Given the description of an element on the screen output the (x, y) to click on. 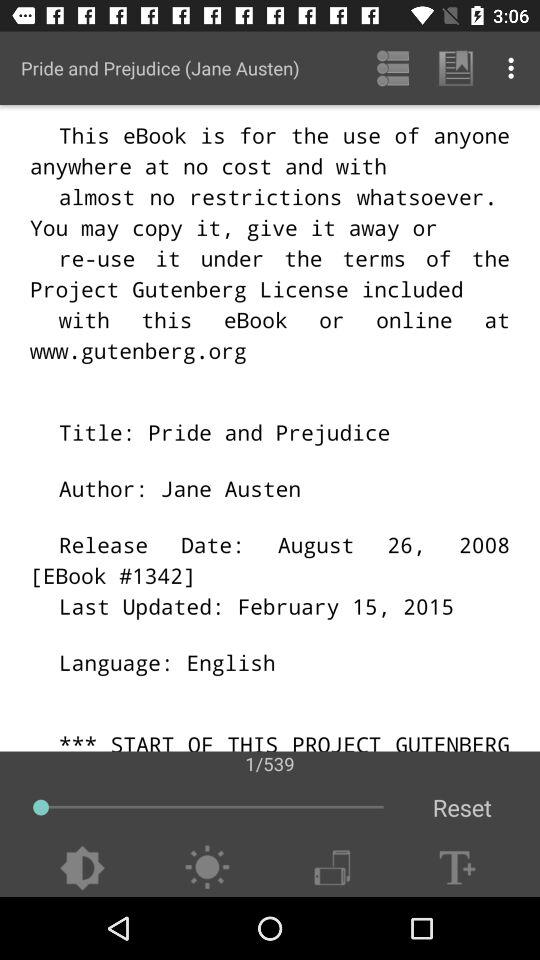
increase text size (457, 867)
